Given the description of an element on the screen output the (x, y) to click on. 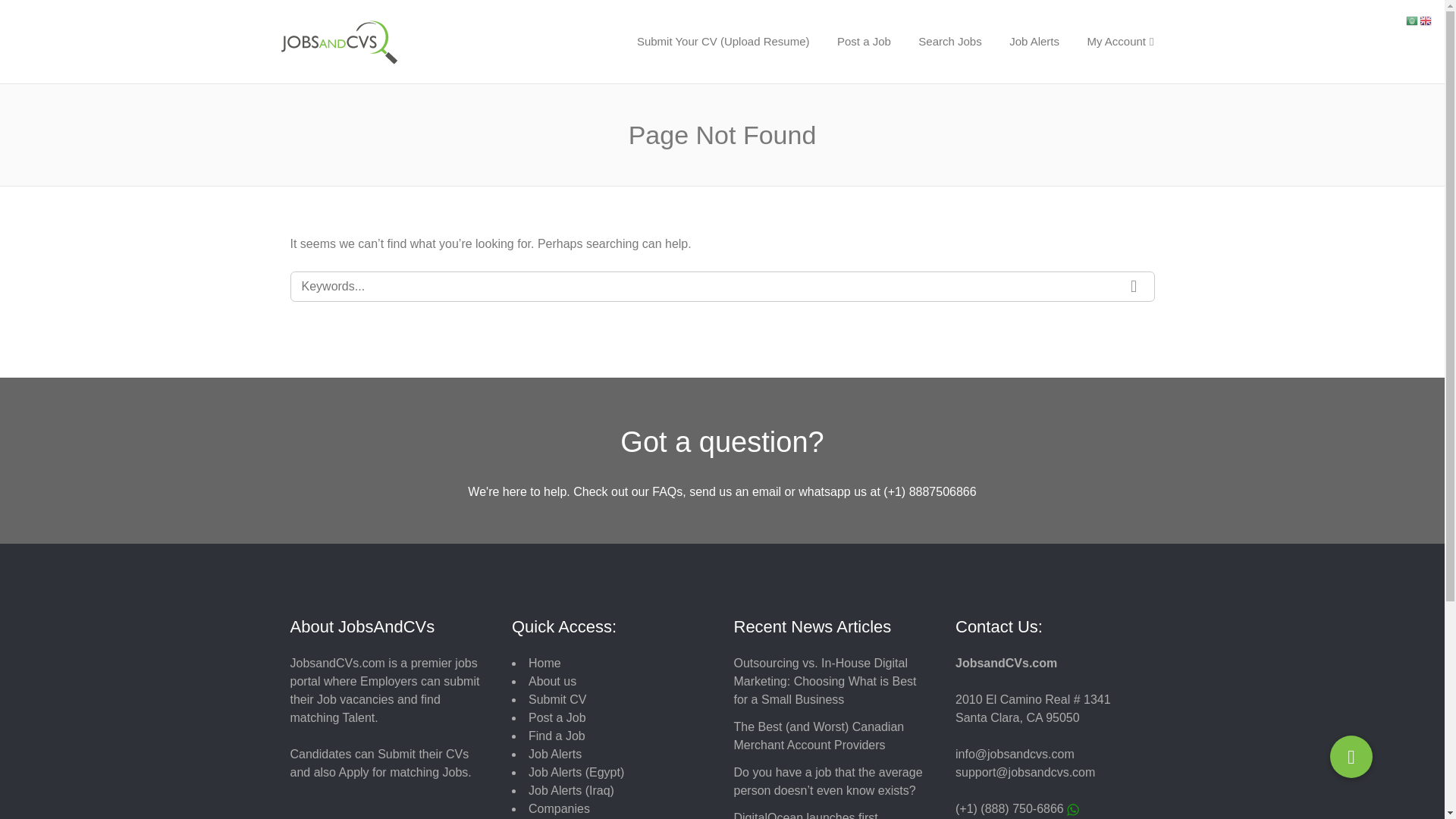
Post a Job (557, 717)
DigitalOcean launches first Canadian data centre in Toronto (819, 815)
Submit CV (557, 698)
Job Alerts (1034, 41)
SEARCH (1133, 286)
English (1425, 19)
About us (552, 680)
Companies (558, 808)
Search Jobs (948, 41)
Post a Job (863, 41)
Job Alerts (554, 753)
My Account (1120, 41)
Arabic (1412, 19)
Find a Job (556, 735)
